Given the description of an element on the screen output the (x, y) to click on. 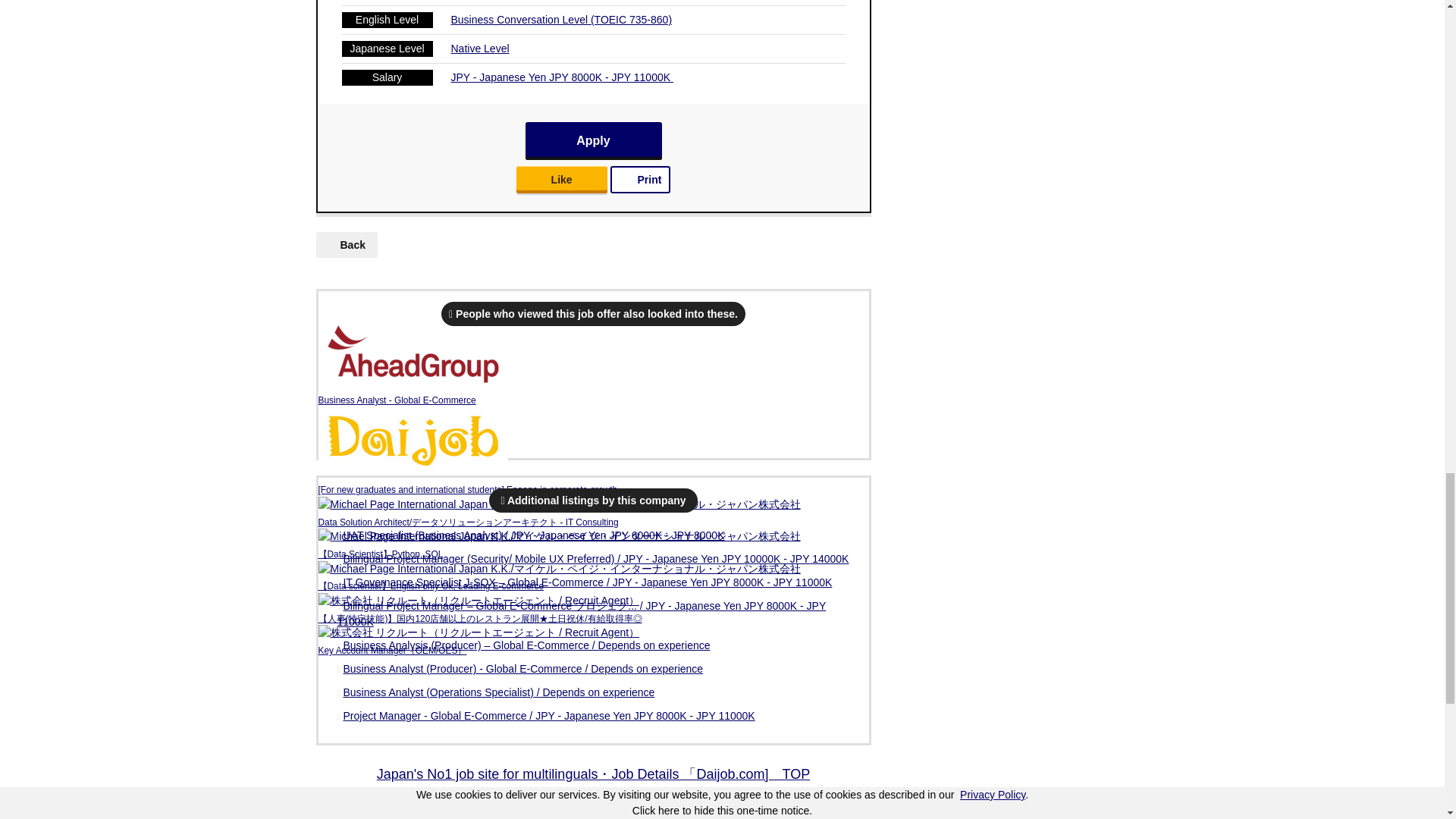
Apply (592, 140)
